Given the description of an element on the screen output the (x, y) to click on. 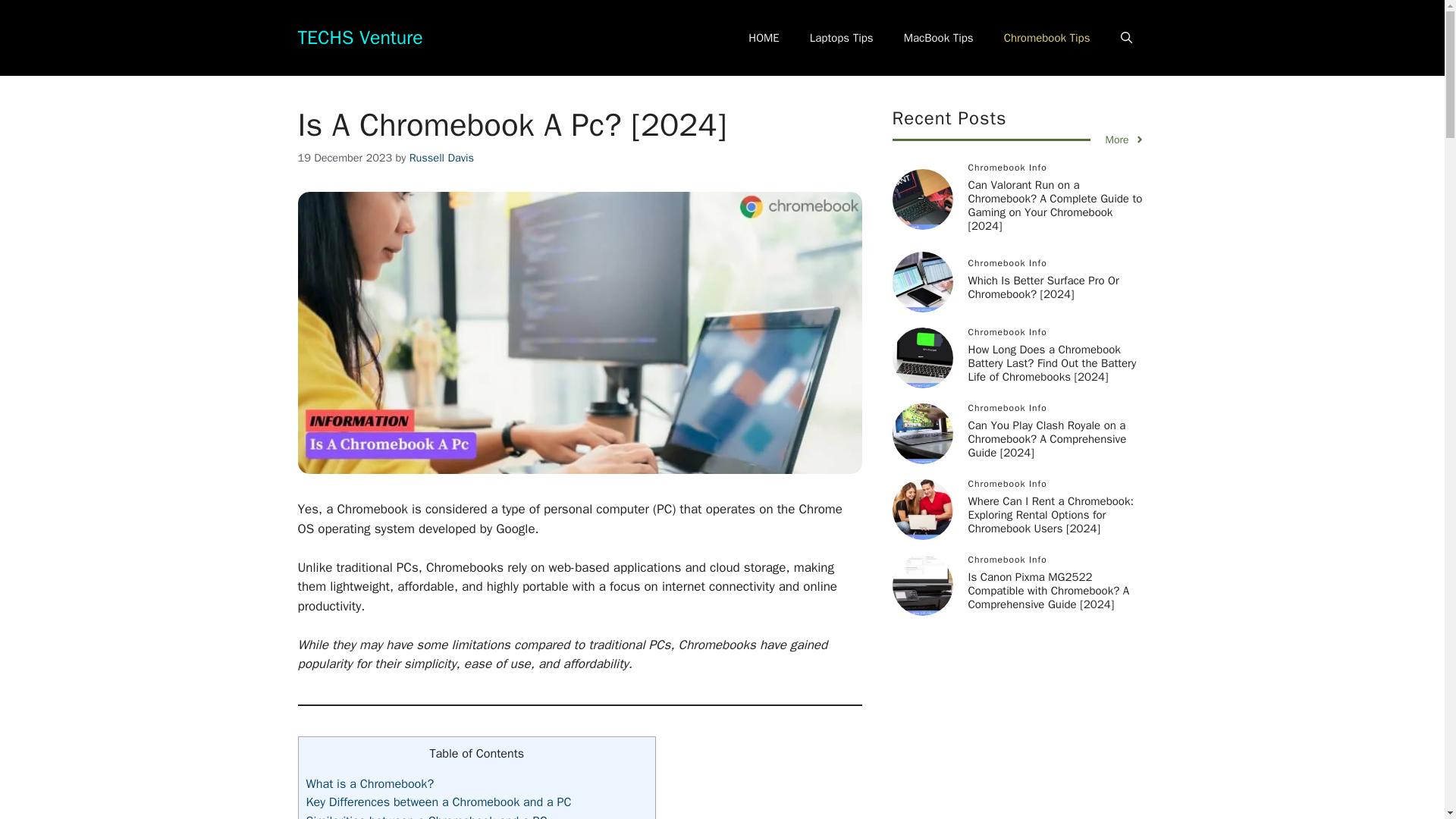
HOME (763, 37)
Laptops Tips (841, 37)
MacBook Tips (938, 37)
Russell Davis (441, 157)
More (1124, 139)
Key Differences between a Chromebook and a PC (438, 801)
View all posts by Russell Davis (441, 157)
Chromebook Tips (1046, 37)
What is a Chromebook? (369, 783)
TECHS Venture (359, 37)
